Given the description of an element on the screen output the (x, y) to click on. 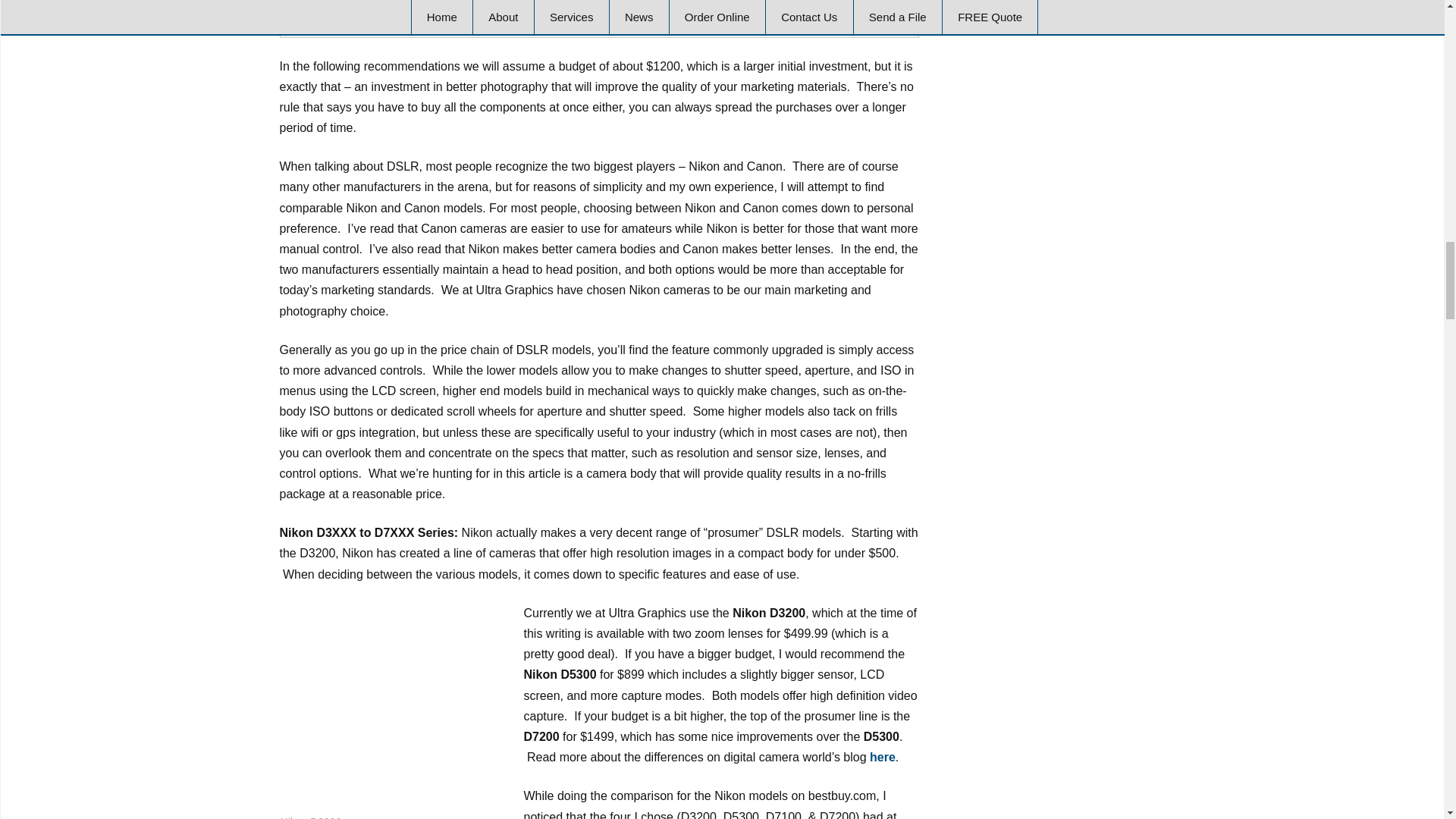
here (882, 757)
